Given the description of an element on the screen output the (x, y) to click on. 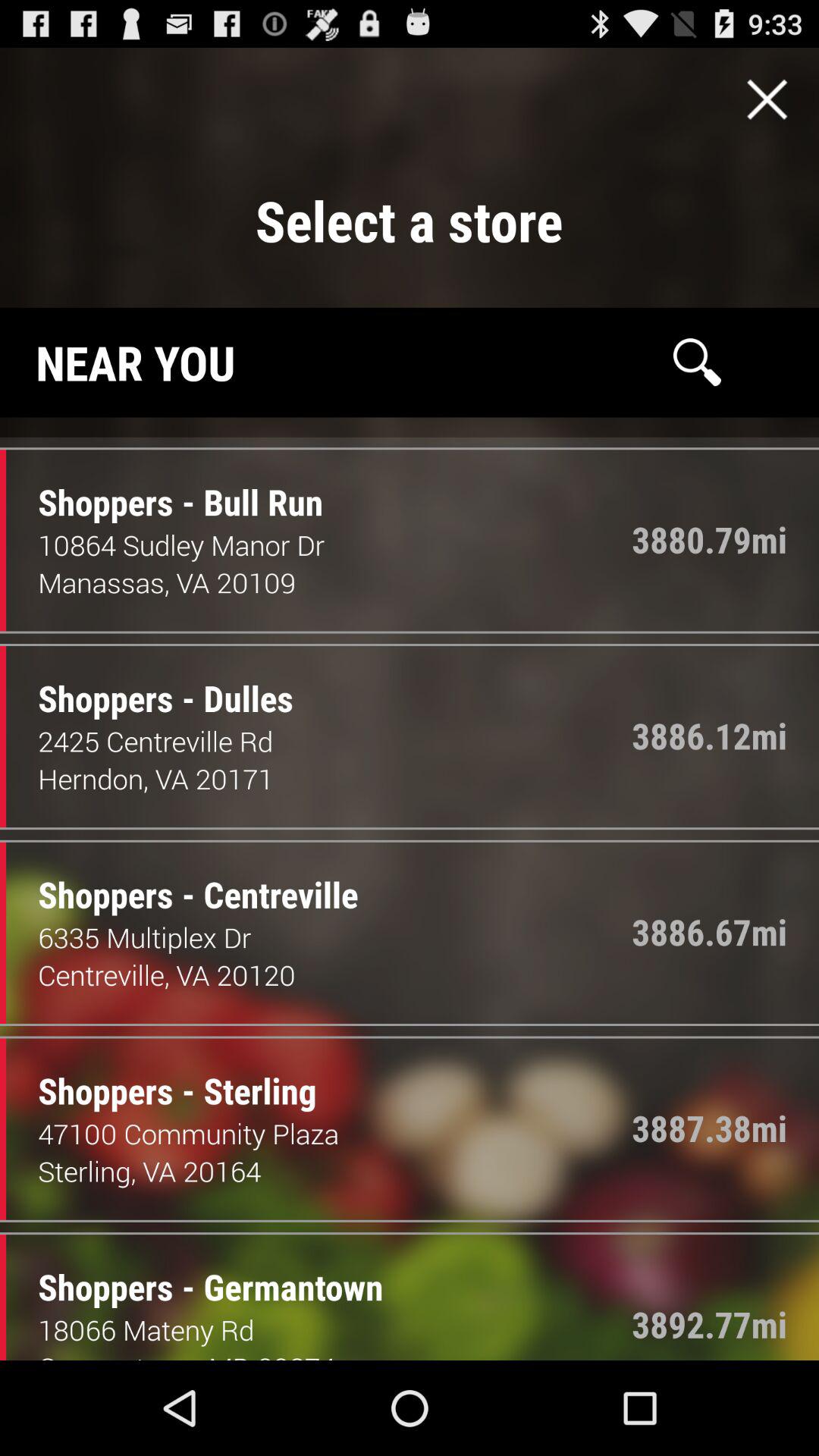
choose the icon next to the 3892.77mi icon (334, 1329)
